Given the description of an element on the screen output the (x, y) to click on. 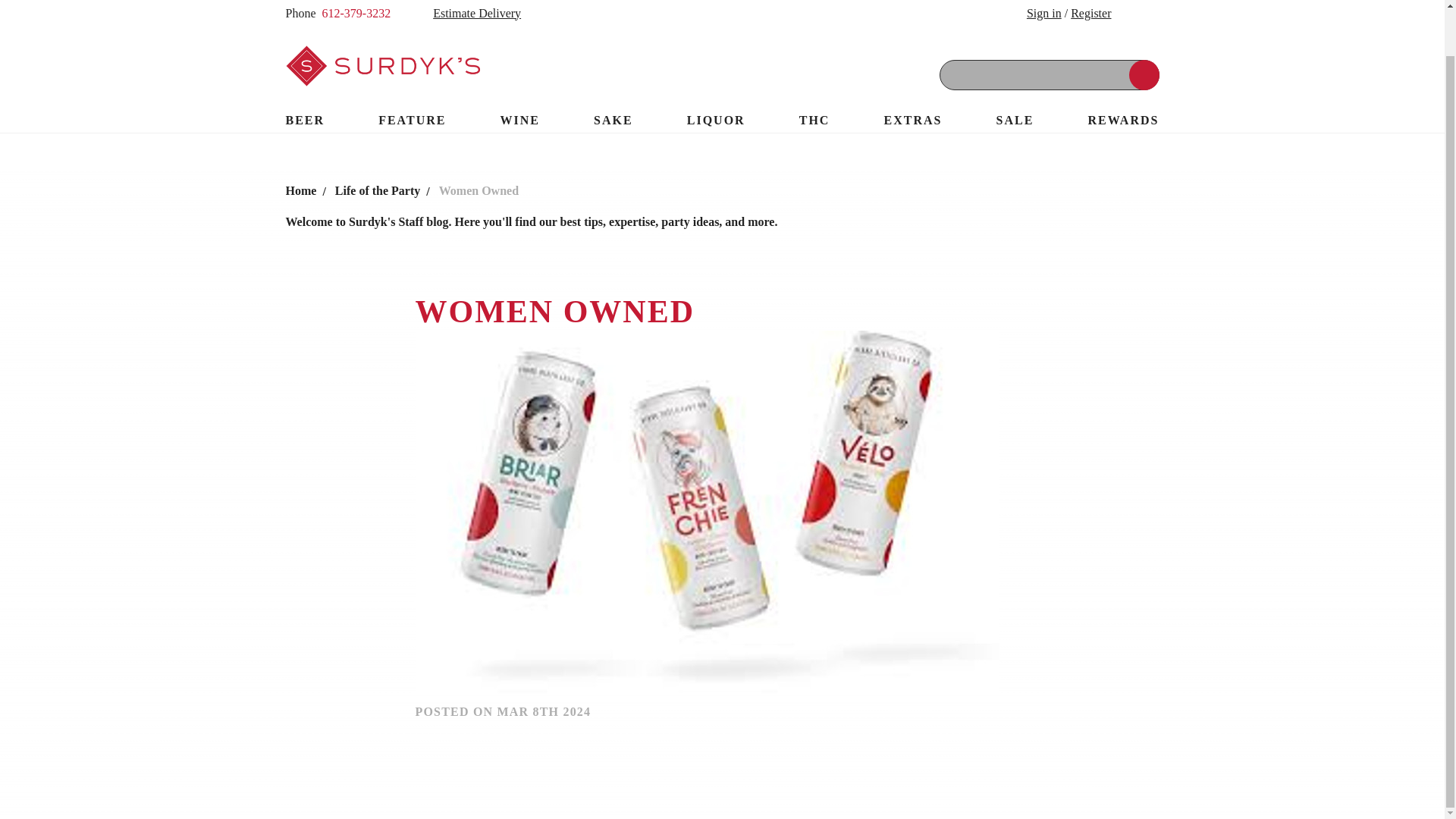
Sign in (1043, 11)
Search (1143, 74)
Estimate Delivery (465, 13)
Search (1143, 74)
Register (1090, 11)
FEATURE (411, 120)
WINE (520, 120)
BEER (304, 120)
Search (1143, 74)
